Given the description of an element on the screen output the (x, y) to click on. 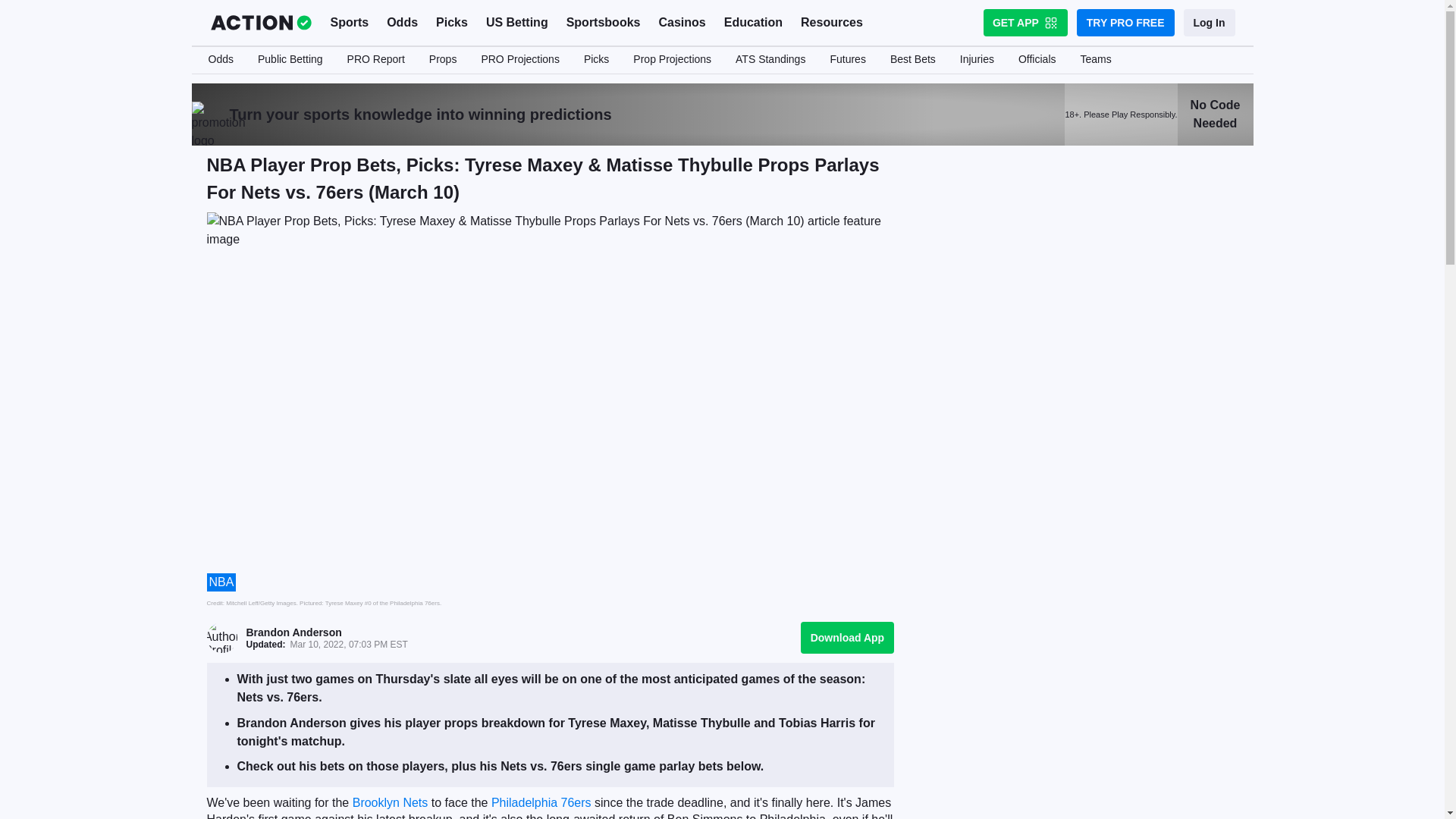
Casinos (681, 23)
Education (753, 23)
ATS Standings (769, 59)
Injuries (976, 59)
Log In (1208, 22)
PRO Report (375, 59)
Props (442, 59)
TRY PRO FREE (1125, 22)
Best Bets (912, 59)
Sportsbooks (603, 23)
